Given the description of an element on the screen output the (x, y) to click on. 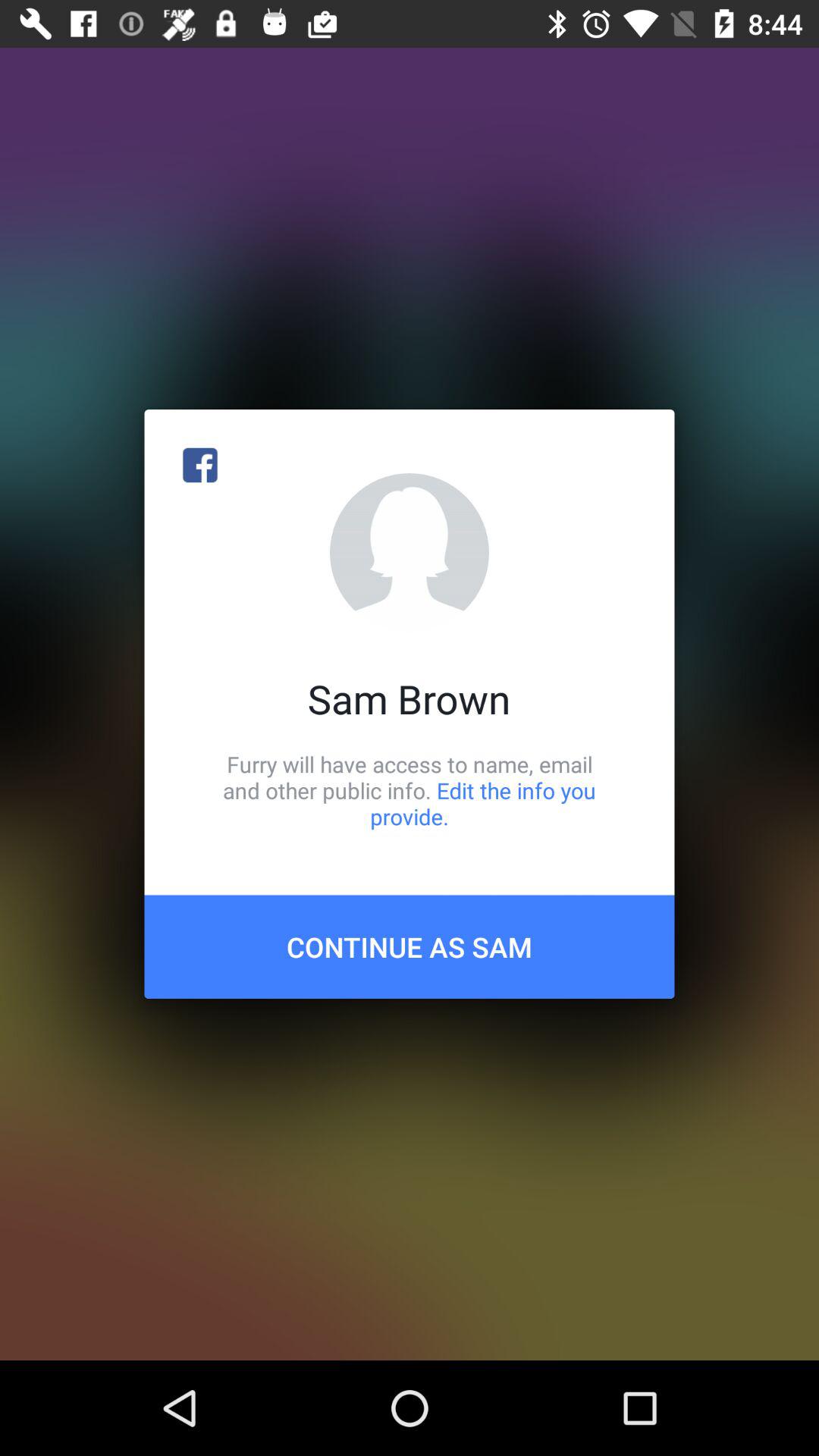
select the furry will have (409, 790)
